Given the description of an element on the screen output the (x, y) to click on. 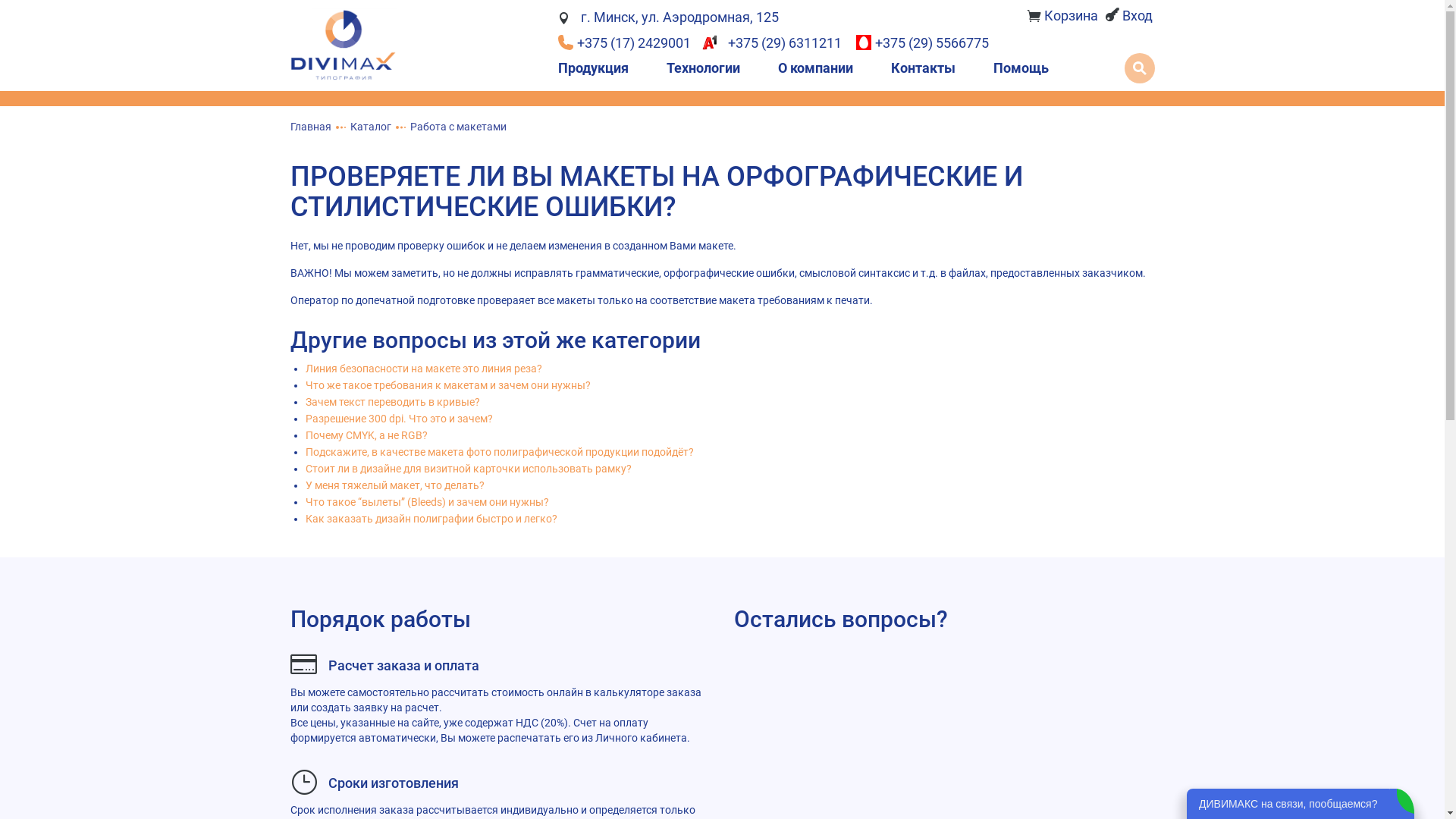
+375 (29) 5566775 Element type: text (921, 42)
+375 (17) 2429001 Element type: text (625, 42)
+375 (29) 6311211 Element type: text (774, 42)
